Given the description of an element on the screen output the (x, y) to click on. 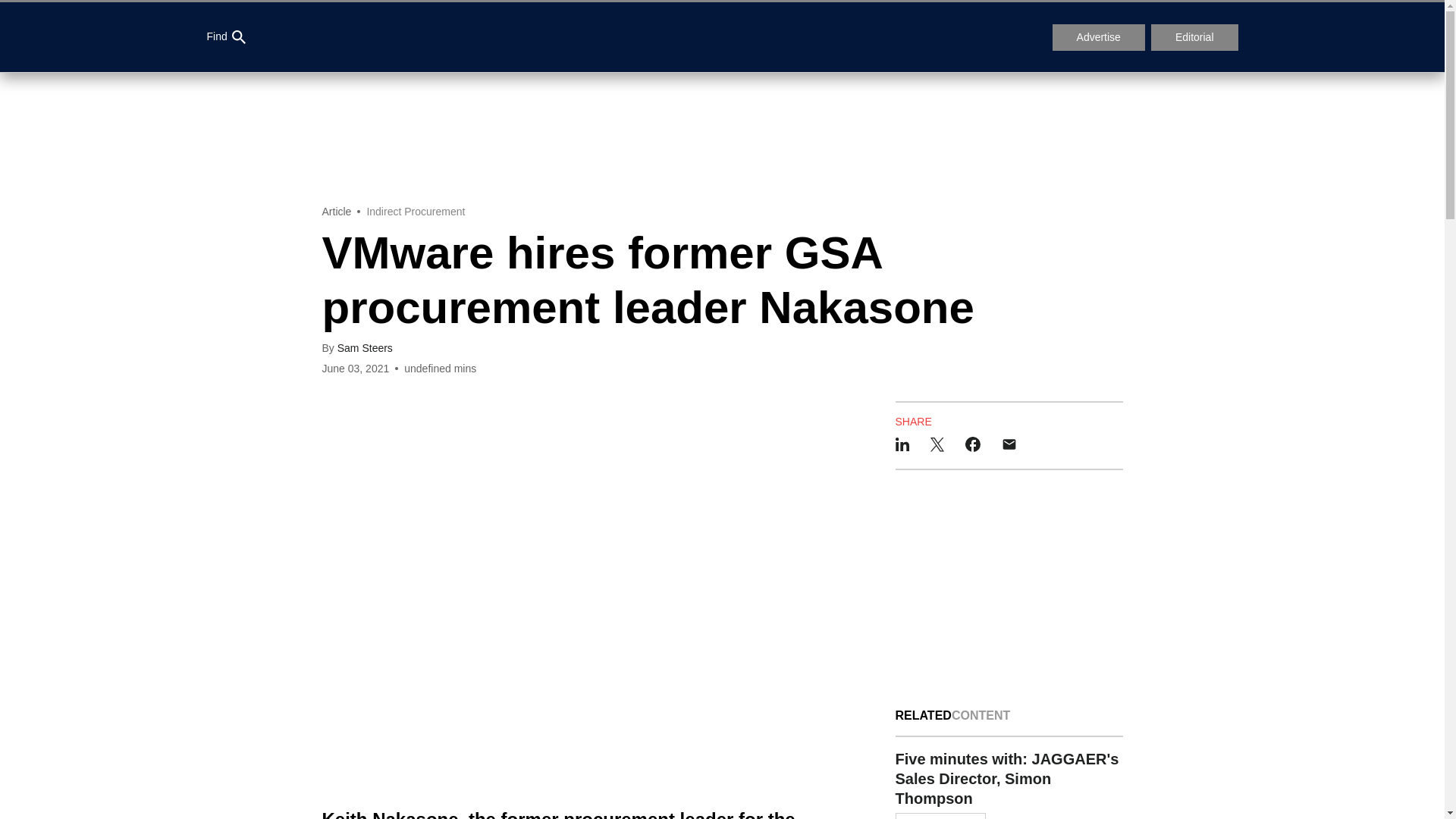
Editorial (1195, 37)
Sam Steers (365, 347)
Find (225, 37)
Advertise (1098, 37)
